Given the description of an element on the screen output the (x, y) to click on. 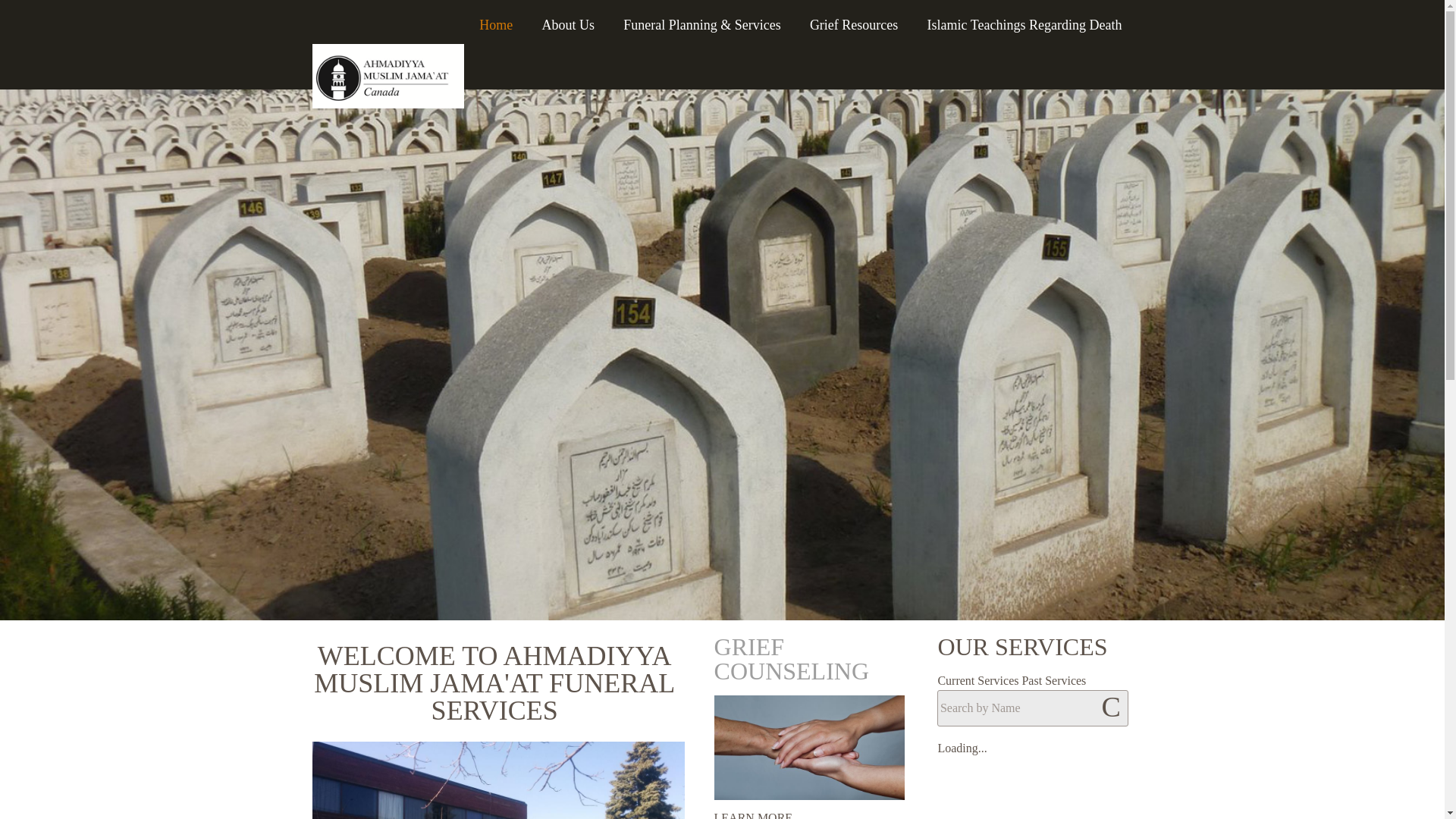
LEARN MORE (753, 815)
Current Services (977, 680)
Islamic Teachings Regarding Death (1024, 20)
Home (495, 20)
Grief Resources (853, 20)
Past Services (1054, 680)
Search by Name (1031, 708)
About Us (567, 20)
Search by Name (1031, 708)
